Given the description of an element on the screen output the (x, y) to click on. 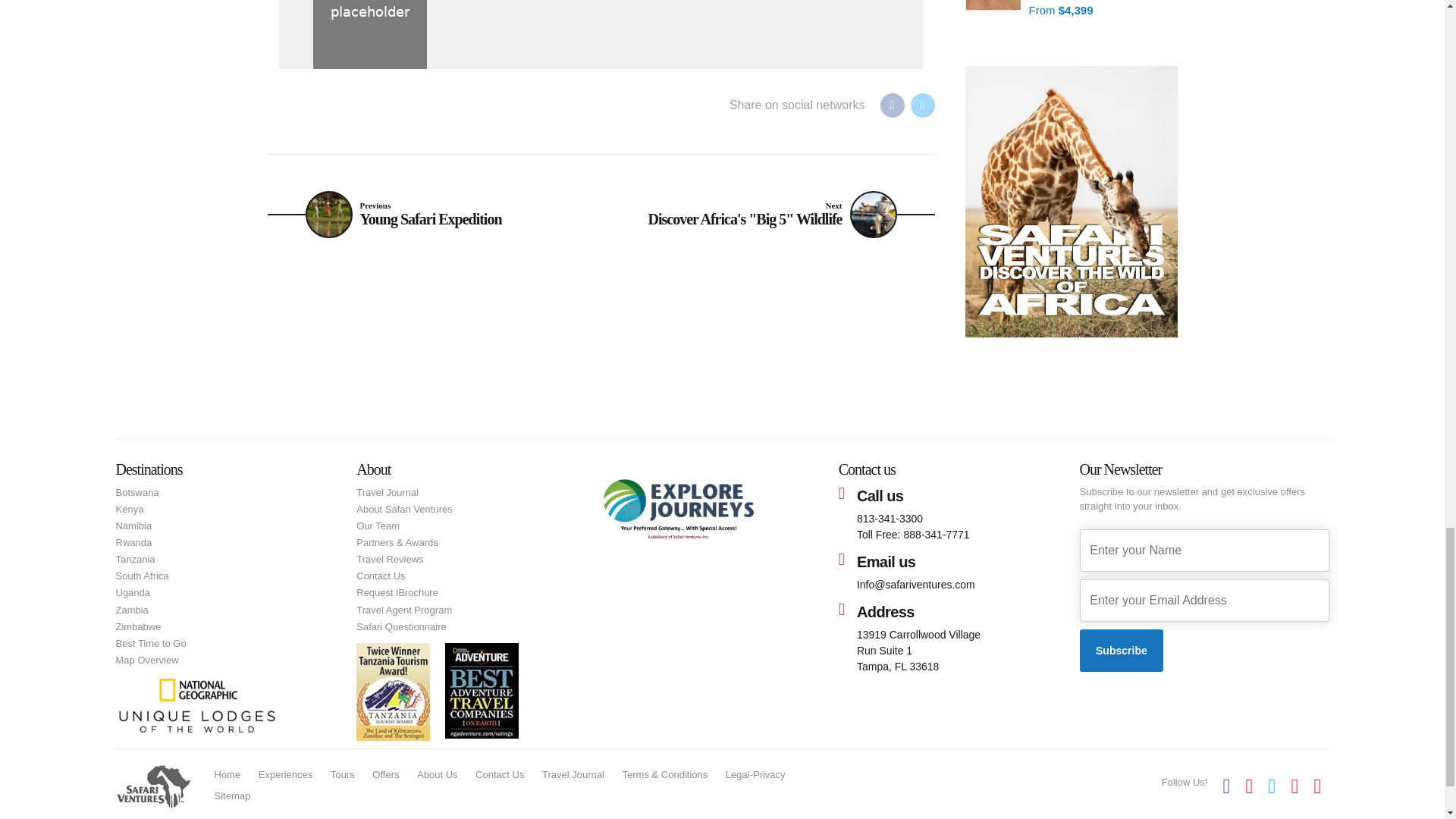
Placeholder image (369, 34)
Subscribe (1121, 650)
